Given the description of an element on the screen output the (x, y) to click on. 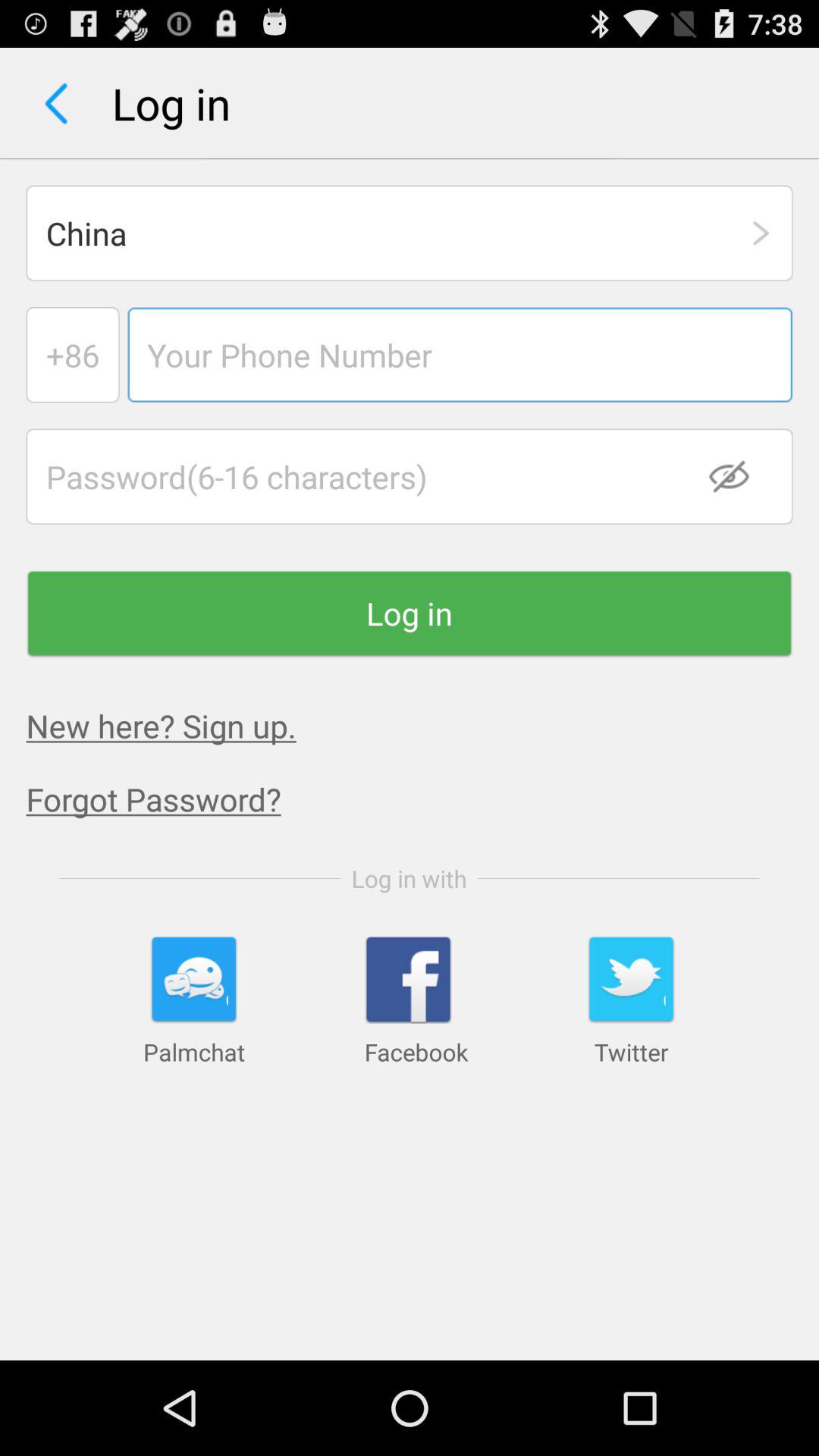
launch the icon above the log in icon (738, 476)
